Given the description of an element on the screen output the (x, y) to click on. 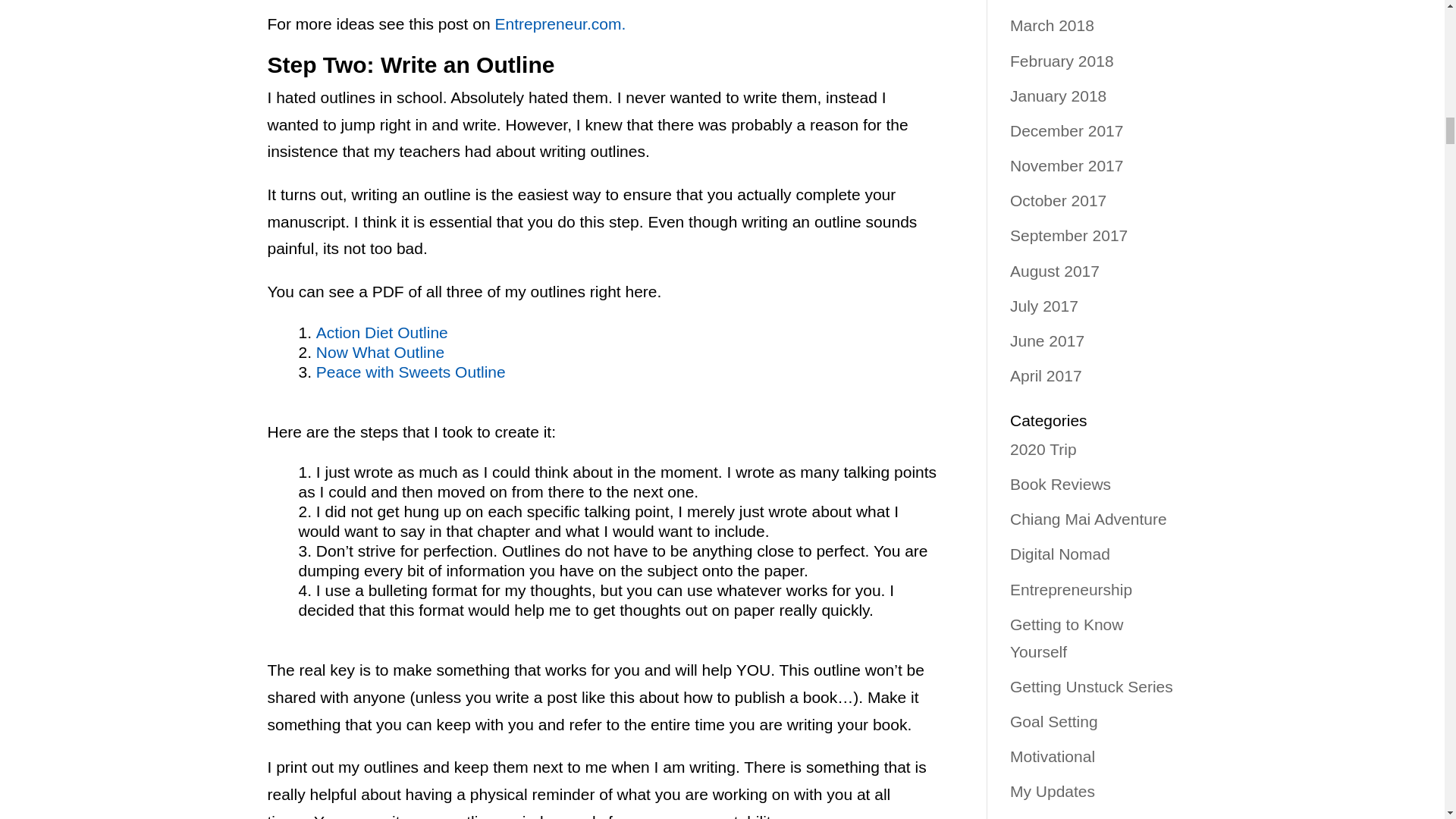
Now What Outline (379, 352)
Action Diet Outline (381, 332)
Peace with Sweets Outline (410, 371)
Entrepreneur.com. (560, 23)
